Given the description of an element on the screen output the (x, y) to click on. 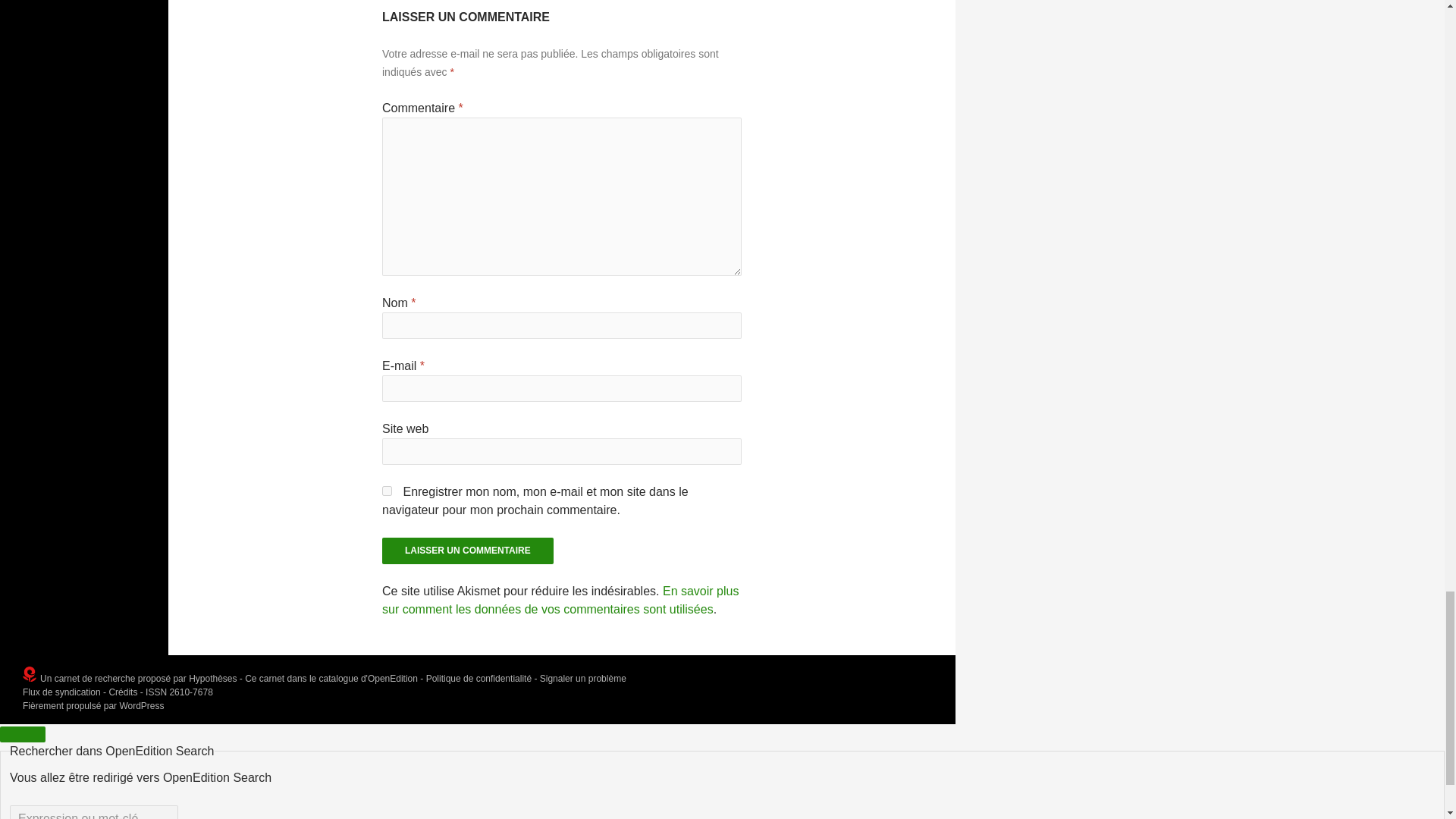
Laisser un commentaire (467, 550)
Laisser un commentaire (467, 550)
Ce carnet dans le catalogue d'OpenEdition (330, 678)
yes (386, 491)
